Given the description of an element on the screen output the (x, y) to click on. 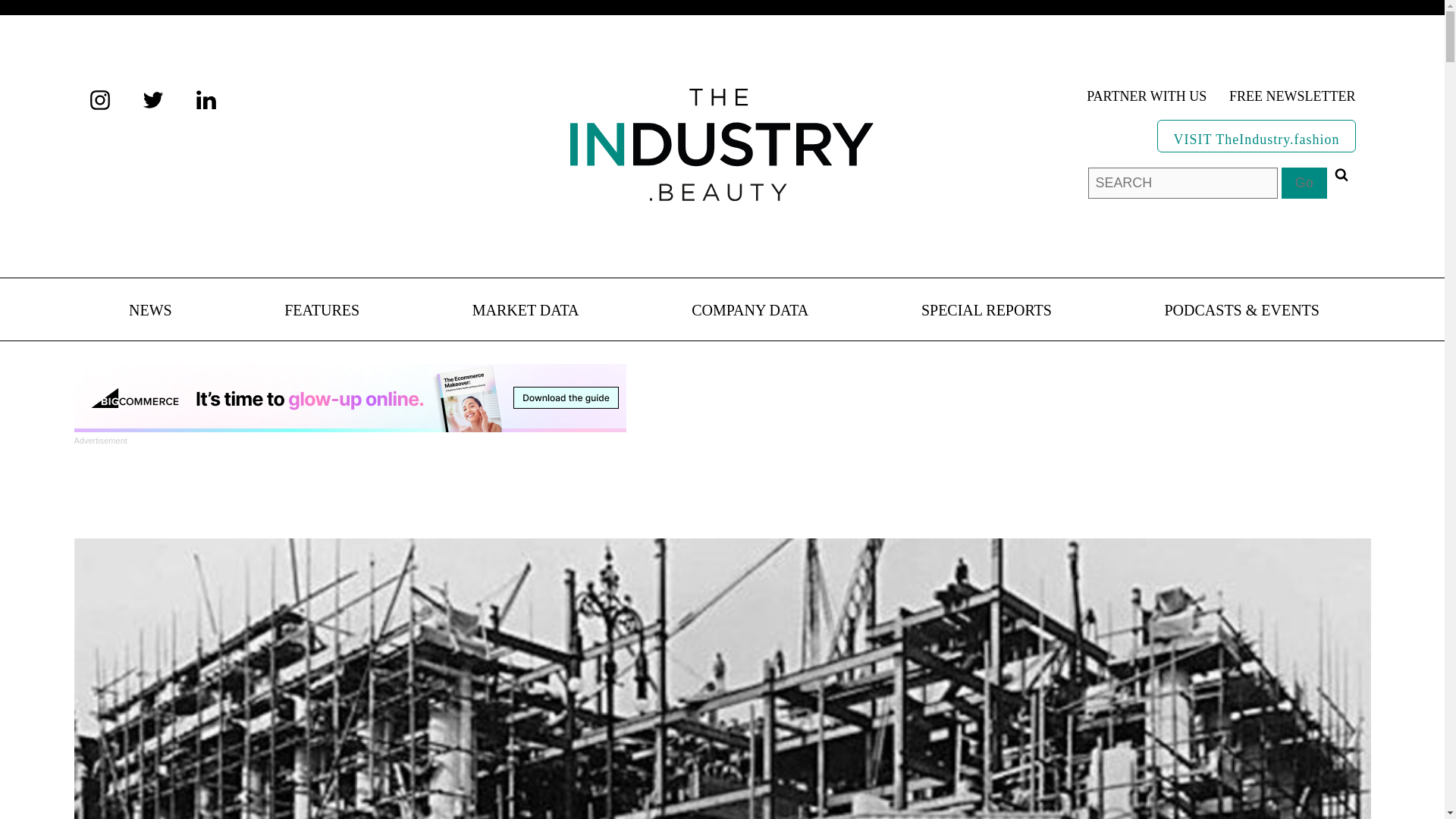
SPECIAL REPORTS (986, 311)
Go (1303, 183)
MARKET DATA (525, 311)
COMPANY DATA (749, 311)
NEWS (150, 311)
Go (1303, 183)
FEATURES (321, 311)
PARTNER WITH US (1146, 96)
VISIT TheIndustry.fashion (1256, 135)
FREE NEWSLETTER (1291, 96)
